Given the description of an element on the screen output the (x, y) to click on. 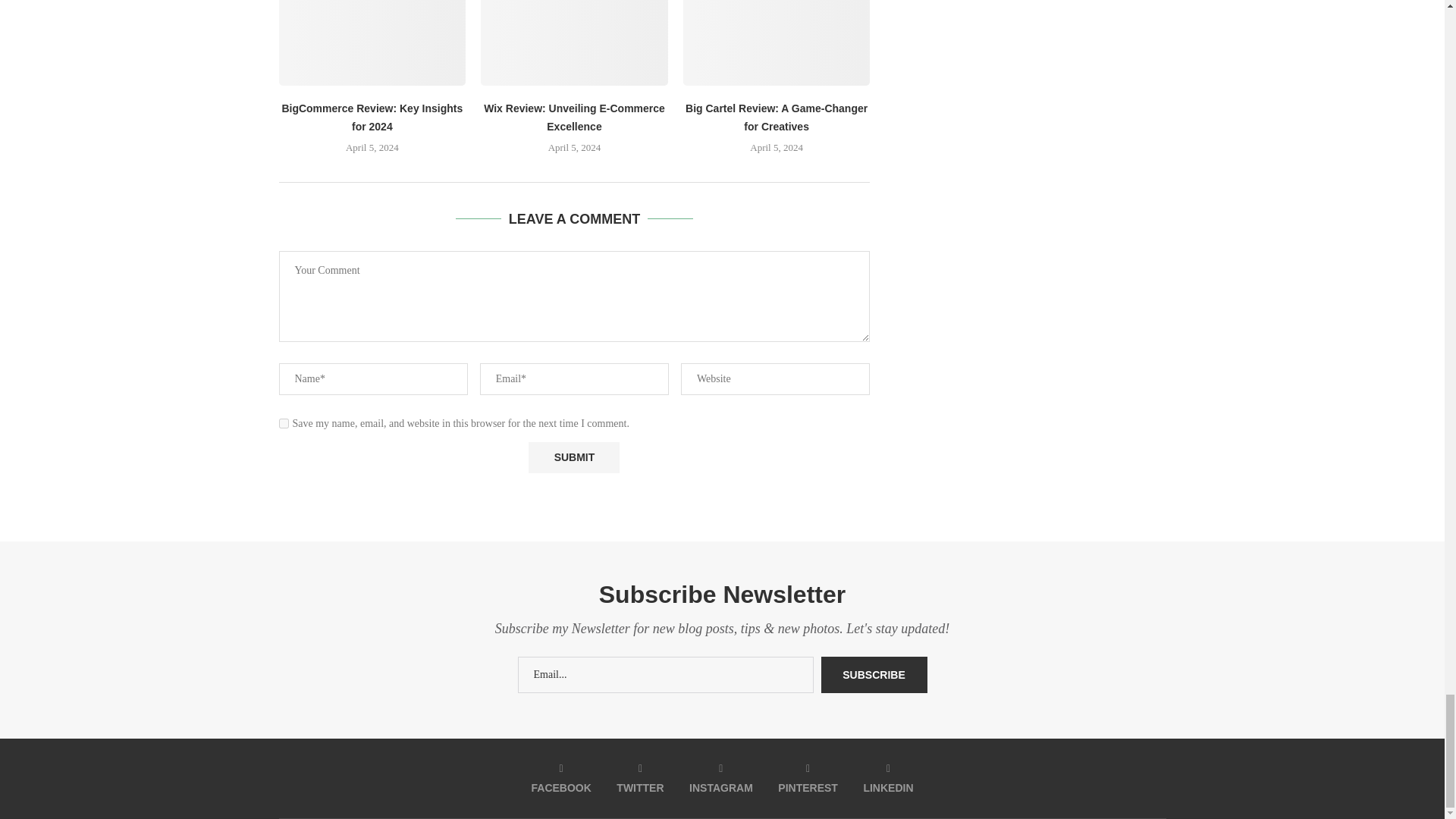
Submit (574, 457)
yes (283, 423)
Subscribe (873, 674)
